Given the description of an element on the screen output the (x, y) to click on. 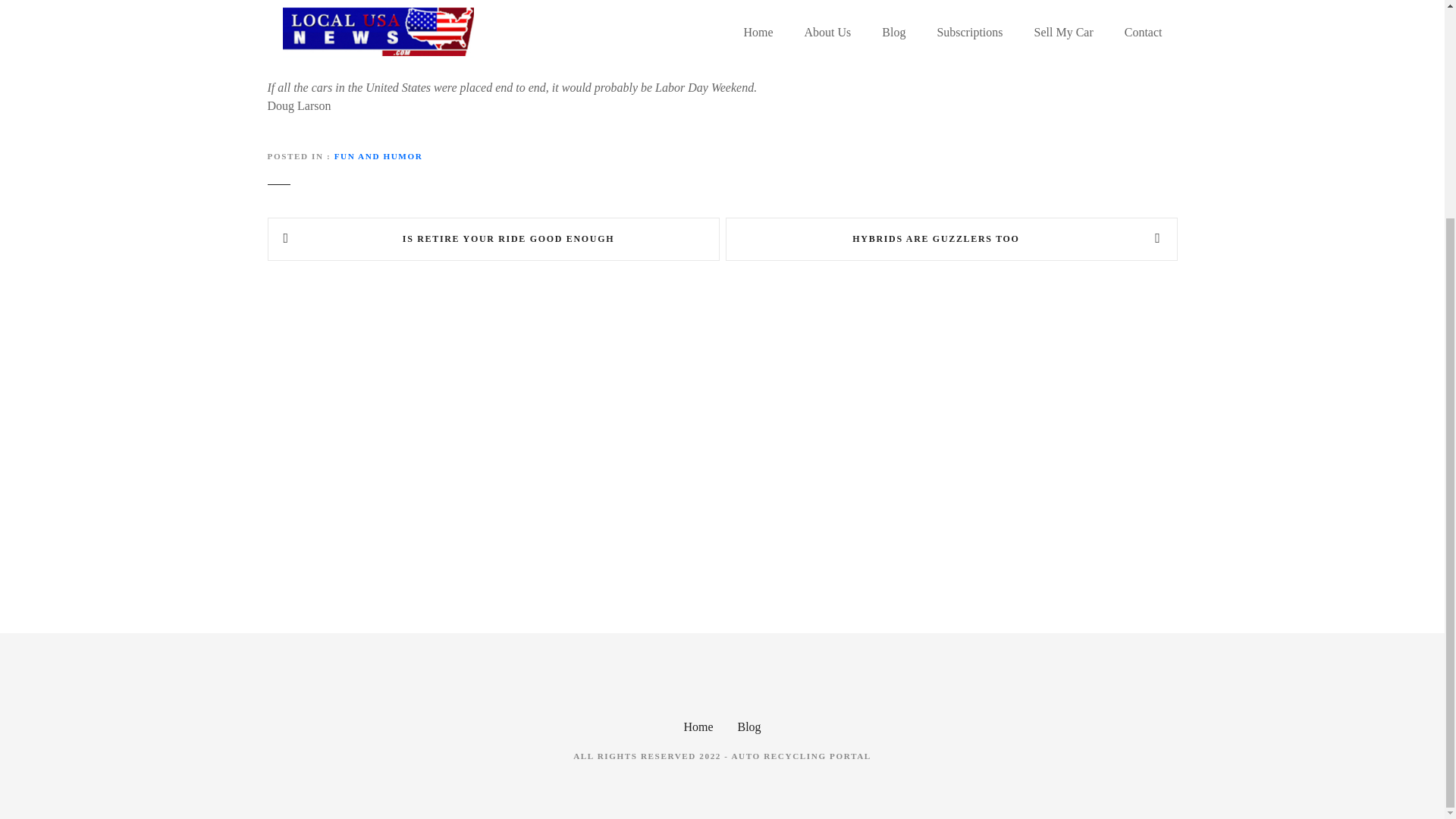
FUN AND HUMOR (378, 155)
HYBRIDS ARE GUZZLERS TOO (950, 239)
Blog (748, 726)
Home (697, 726)
IS RETIRE YOUR RIDE GOOD ENOUGH (492, 239)
